Given the description of an element on the screen output the (x, y) to click on. 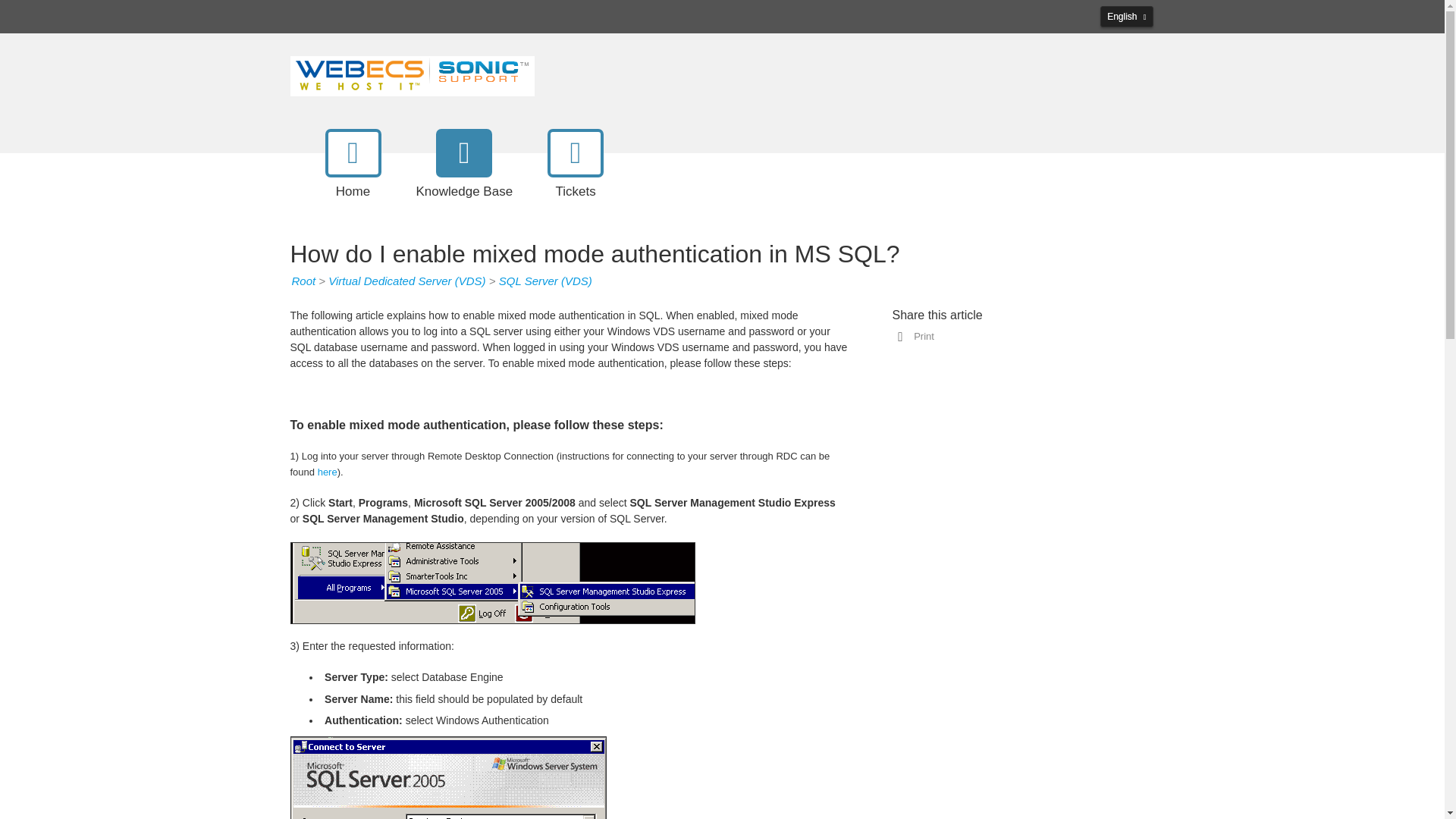
How do I connect to my VPS? (327, 471)
here (327, 471)
Root (303, 280)
Webecs (411, 74)
Knowledge Base (463, 176)
English (1126, 16)
Print (921, 336)
Home (352, 176)
Tickets (575, 176)
